Given the description of an element on the screen output the (x, y) to click on. 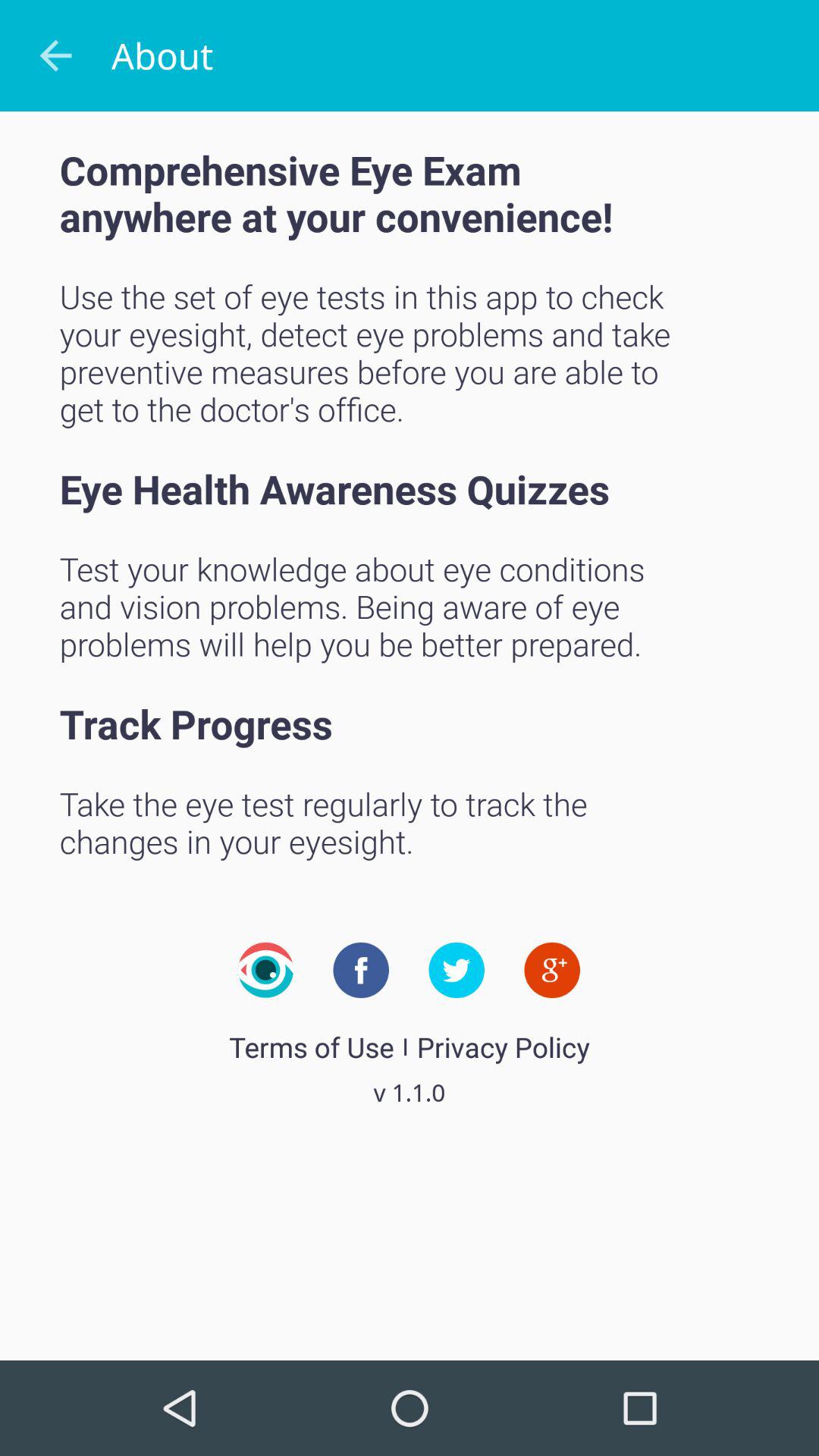
press the icon to the left of about (55, 55)
